Given the description of an element on the screen output the (x, y) to click on. 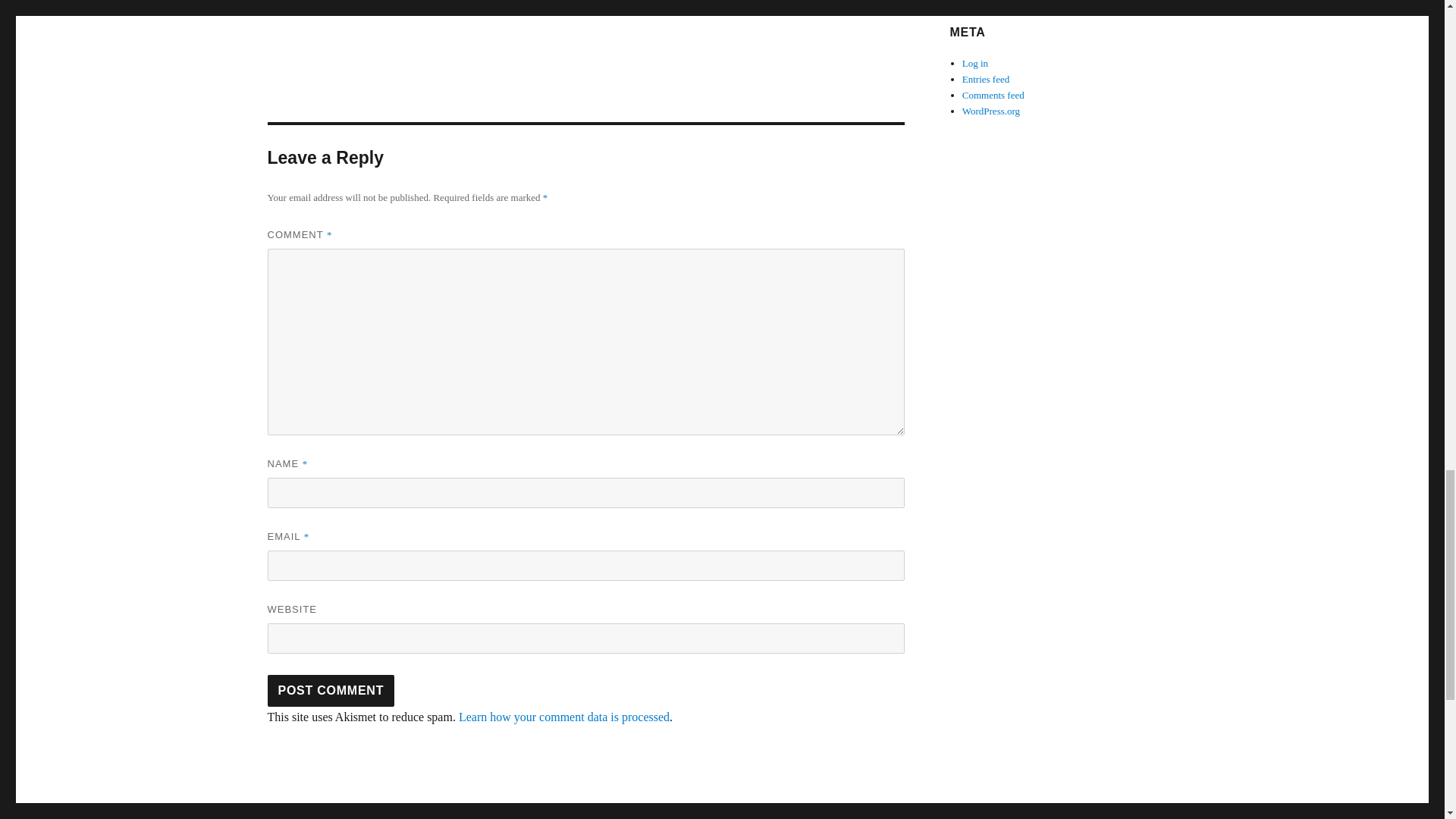
Post Comment (330, 690)
Post Comment (330, 690)
Justice at the Edge: Hearing the Sound of Silence (676, 12)
Learn how your comment data is processed (563, 716)
